Given the description of an element on the screen output the (x, y) to click on. 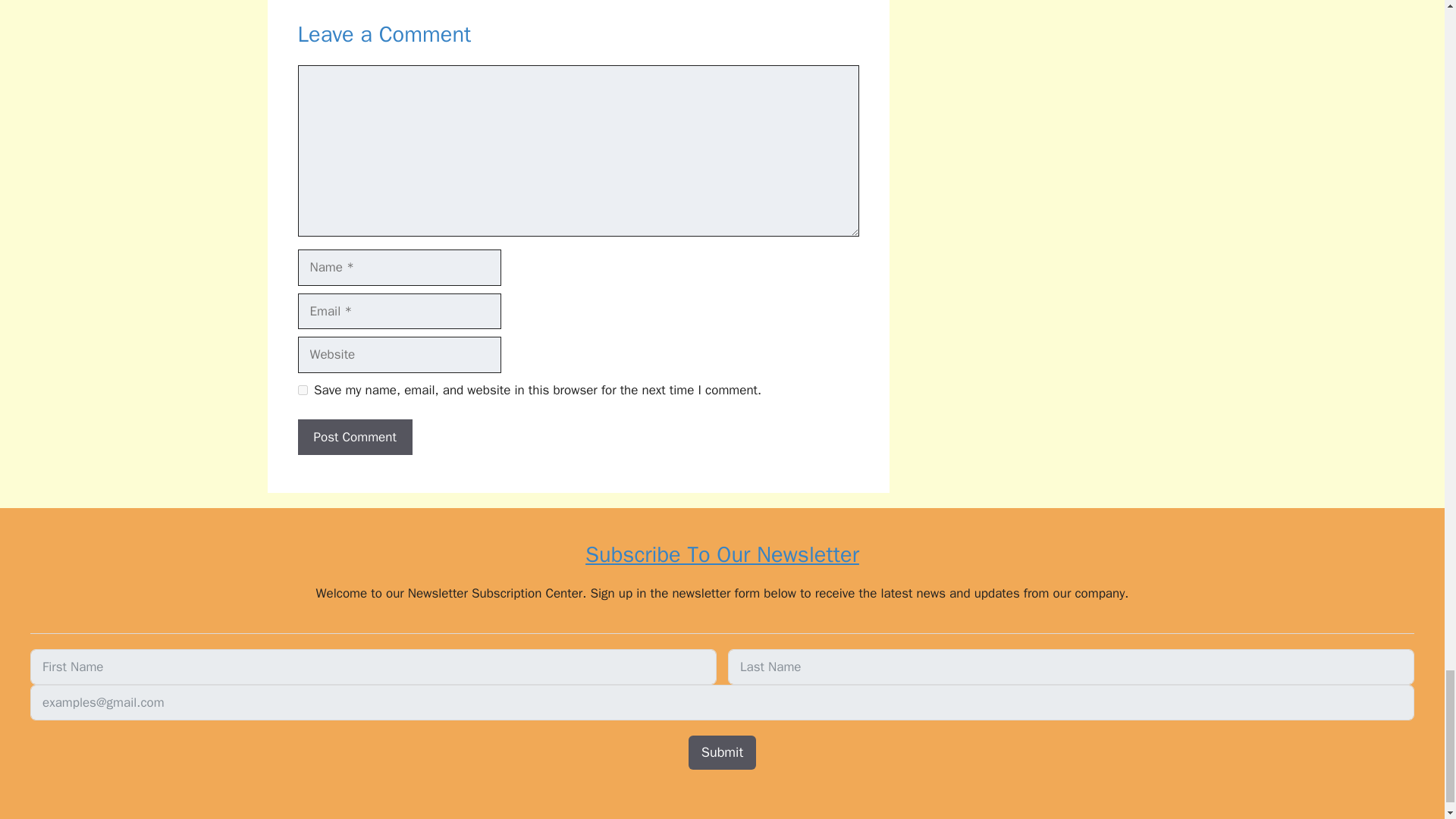
yes (302, 389)
Post Comment (354, 437)
